Given the description of an element on the screen output the (x, y) to click on. 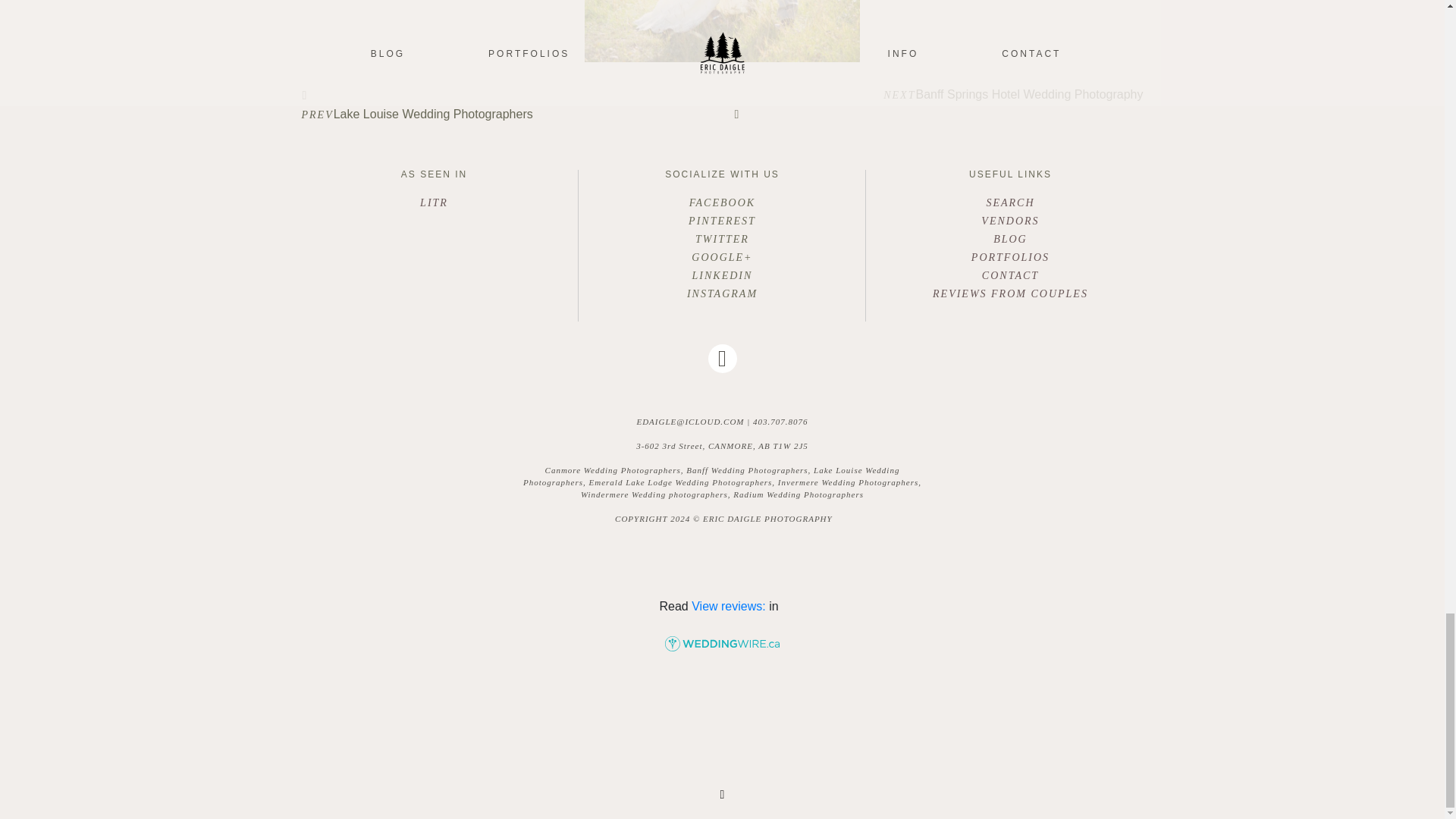
FACEBOOK (722, 203)
PINTEREST (722, 221)
LINKEDIN (722, 275)
NEXTBanff Springs Hotel Wedding Photography (937, 105)
TWITTER (722, 239)
PREVLake Louise Wedding Photographers (506, 102)
LITR (434, 202)
